Given the description of an element on the screen output the (x, y) to click on. 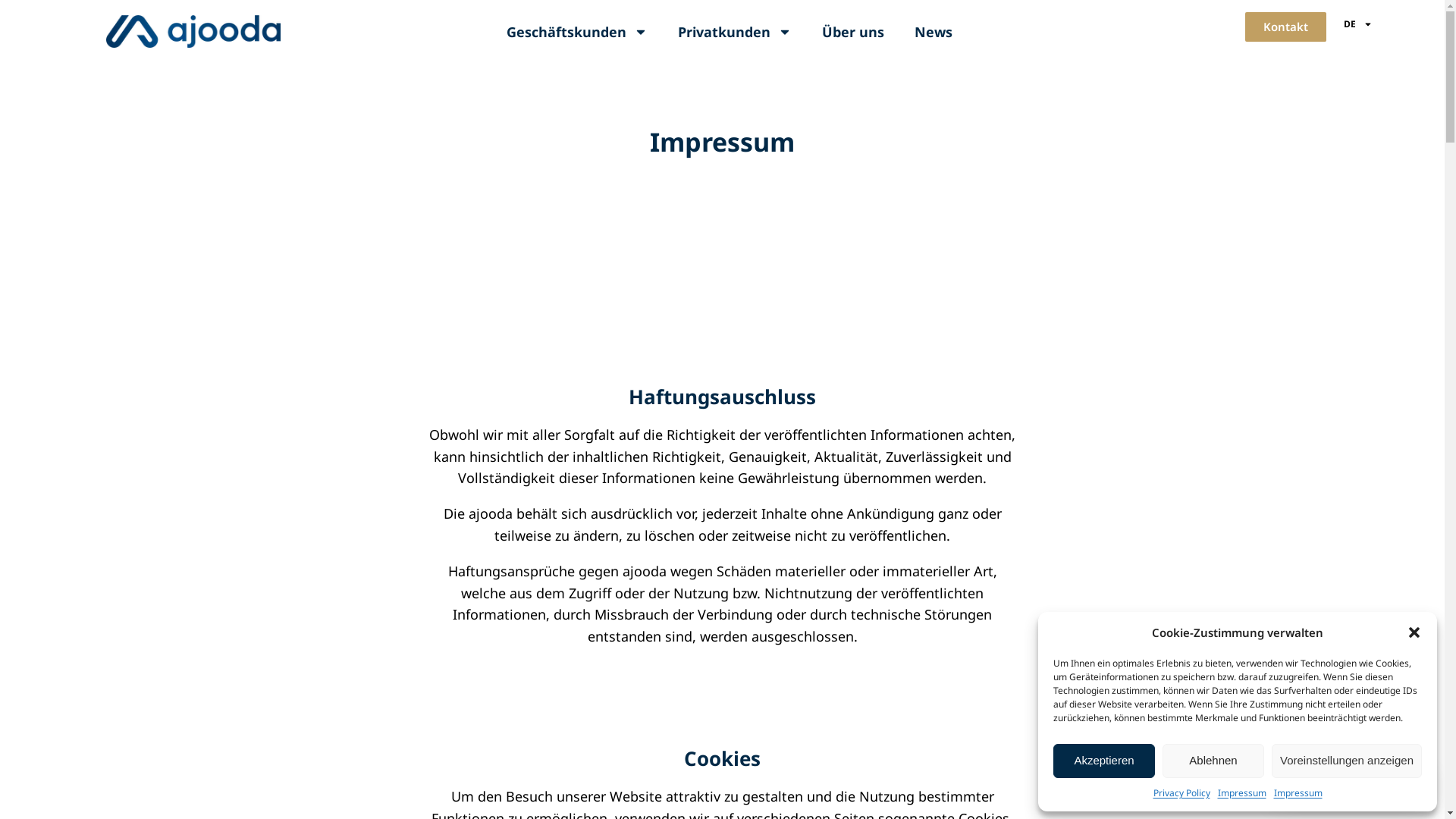
Impressum Element type: text (1241, 792)
Privatkunden Element type: text (734, 31)
Impressum Element type: text (1298, 792)
Ablehnen Element type: text (1213, 760)
DE Element type: text (1357, 23)
Voreinstellungen anzeigen Element type: text (1346, 760)
Kontakt Element type: text (1285, 26)
Akzeptieren Element type: text (1103, 760)
Privacy Policy Element type: text (1180, 792)
News Element type: text (933, 31)
WhatsApp Chat Element type: text (1349, 785)
